Given the description of an element on the screen output the (x, y) to click on. 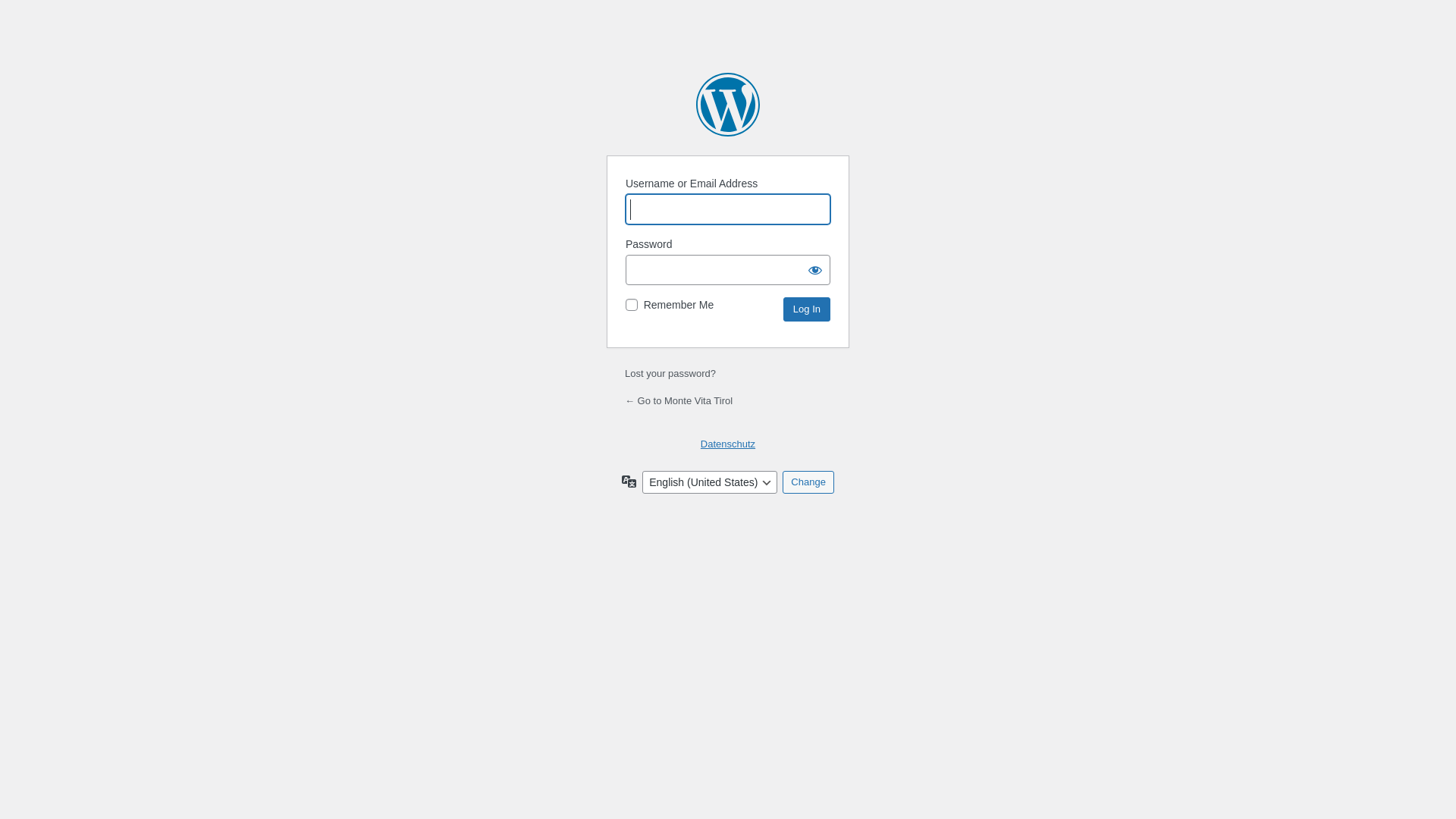
Datenschutz Element type: text (727, 443)
Lost your password? Element type: text (669, 373)
Log In Element type: text (806, 309)
Change Element type: text (808, 481)
Powered by WordPress Element type: text (727, 104)
